Given the description of an element on the screen output the (x, y) to click on. 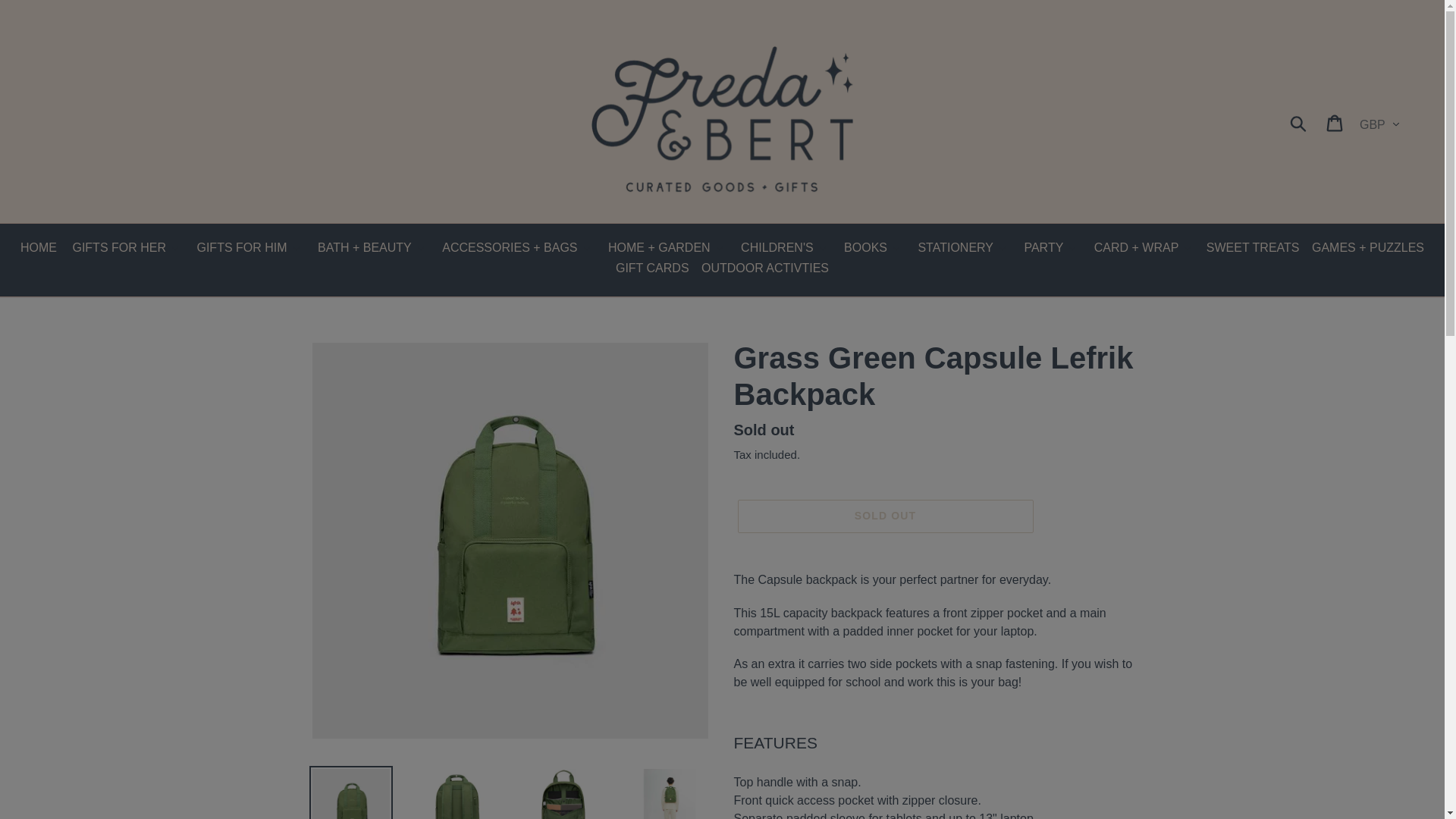
Submit (1299, 122)
Cart (1335, 122)
